Given the description of an element on the screen output the (x, y) to click on. 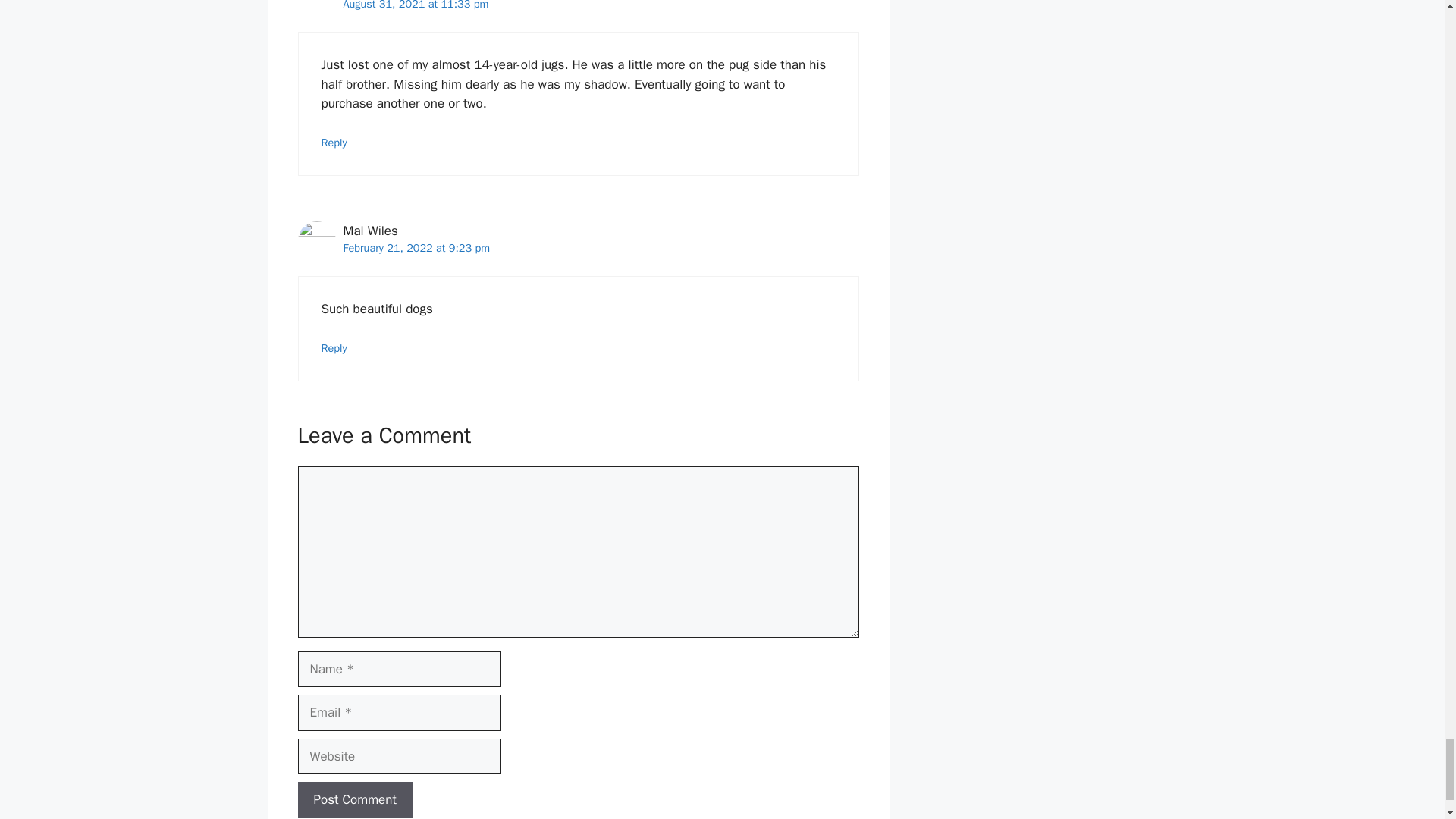
August 31, 2021 at 11:33 pm (414, 5)
Reply (334, 142)
February 21, 2022 at 9:23 pm (415, 247)
Reply (334, 347)
Post Comment (354, 800)
